Given the description of an element on the screen output the (x, y) to click on. 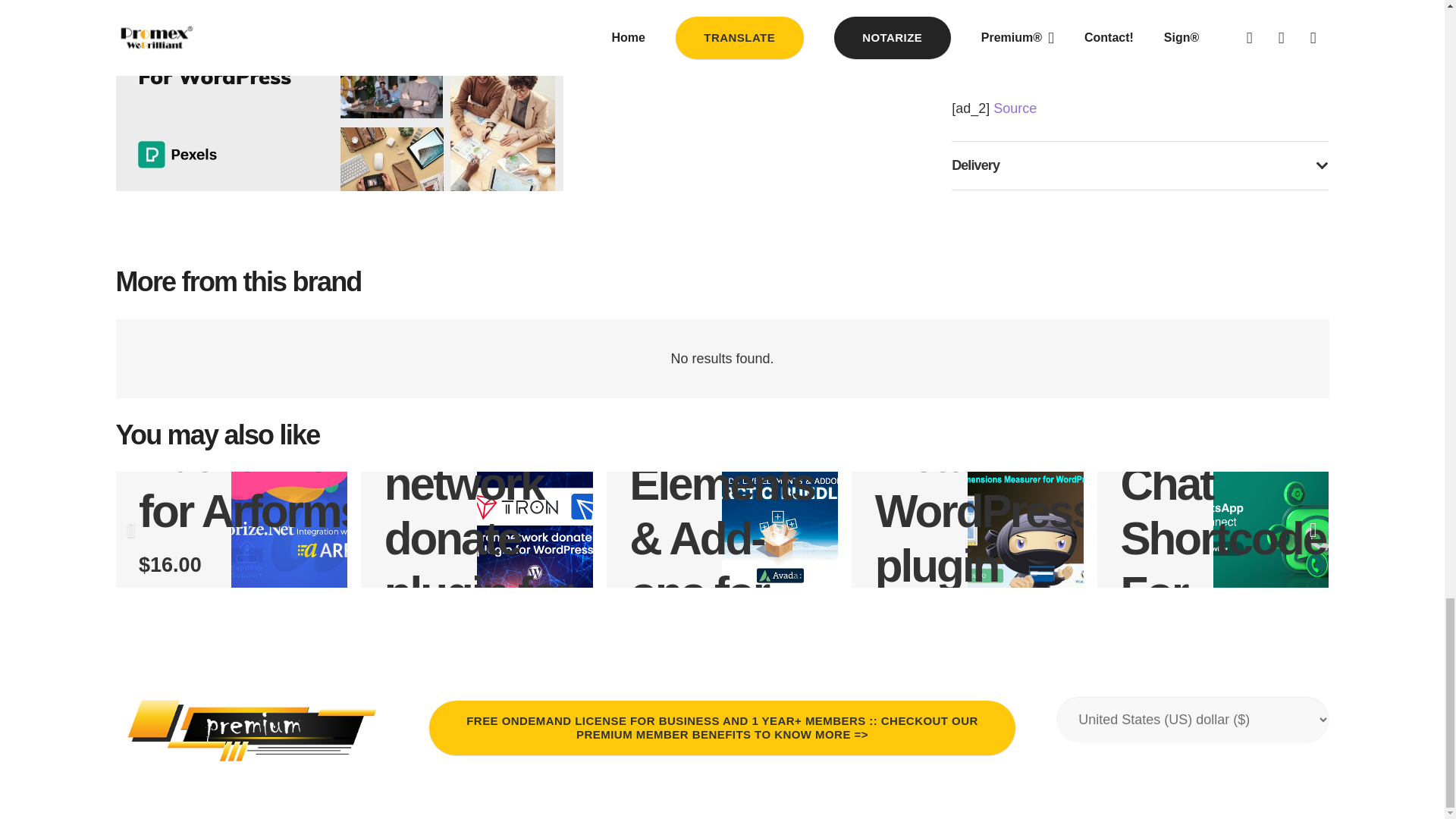
Premium (251, 730)
Authorize.net for Arforms (269, 482)
Source (1014, 108)
Delivery (1139, 165)
Dimensions Measurer WordPress plugin (992, 483)
